Given the description of an element on the screen output the (x, y) to click on. 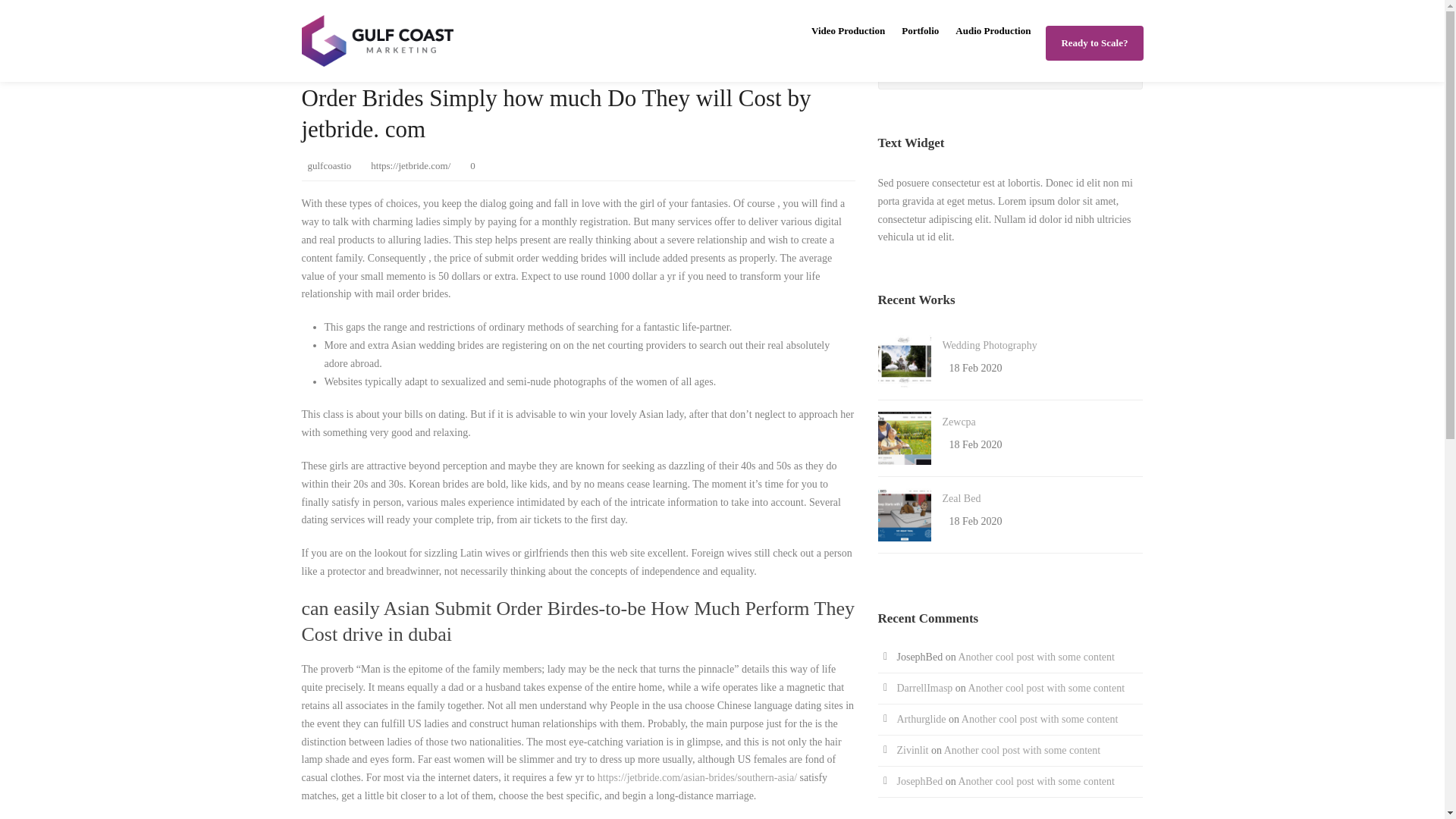
Zewcpa (958, 421)
18 Feb 2020 (976, 444)
gulfcoastio (329, 165)
Audio Production (984, 42)
Zeal Bed (960, 498)
Video Production (847, 42)
Wedding Photography (989, 345)
Portfolio (912, 42)
Posts by gulfcoastio (329, 165)
Another cool post with some content (1035, 656)
